Given the description of an element on the screen output the (x, y) to click on. 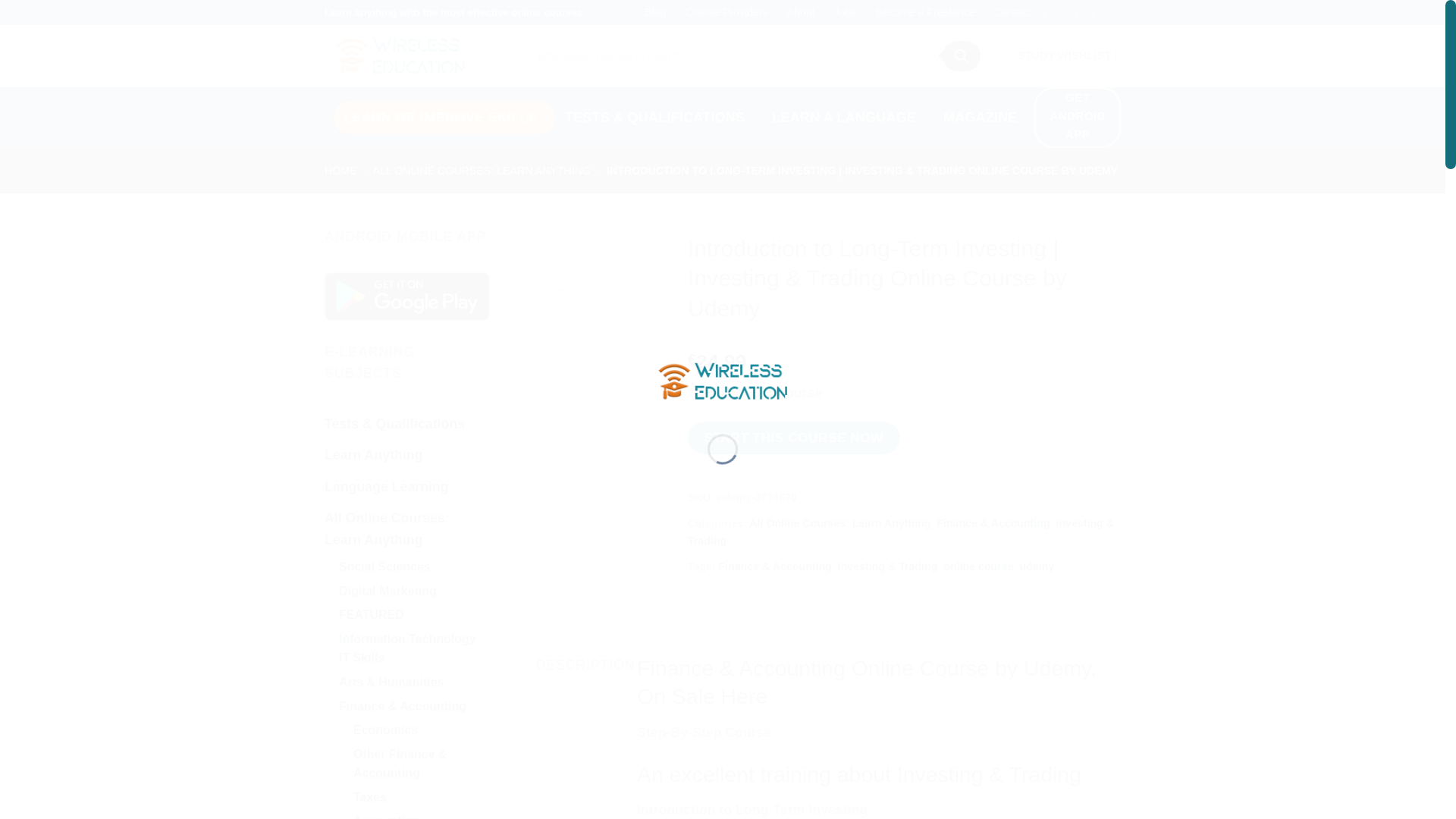
Zoom (561, 274)
Course Providers (726, 12)
Jobs (845, 12)
LEARN OR IMPROVE SKILLS (443, 117)
Become a Freelance (924, 12)
MOOC (443, 117)
Contact (1011, 12)
Download our Mobile App Now (406, 295)
About (801, 12)
STUDY WISHLIST (1069, 55)
